Given the description of an element on the screen output the (x, y) to click on. 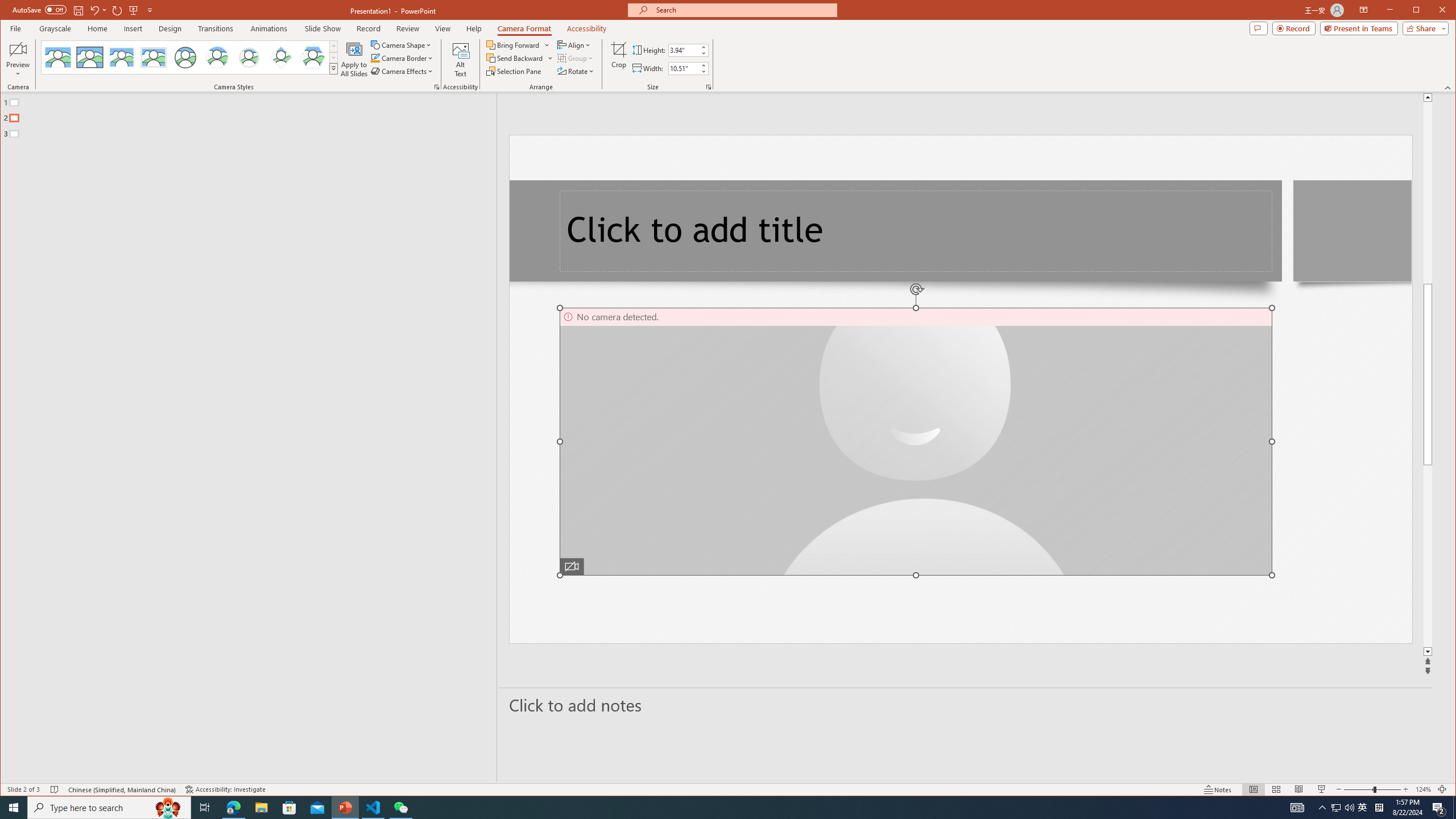
Camera Styles (333, 68)
Group (576, 57)
Cameo Height (683, 50)
